Given the description of an element on the screen output the (x, y) to click on. 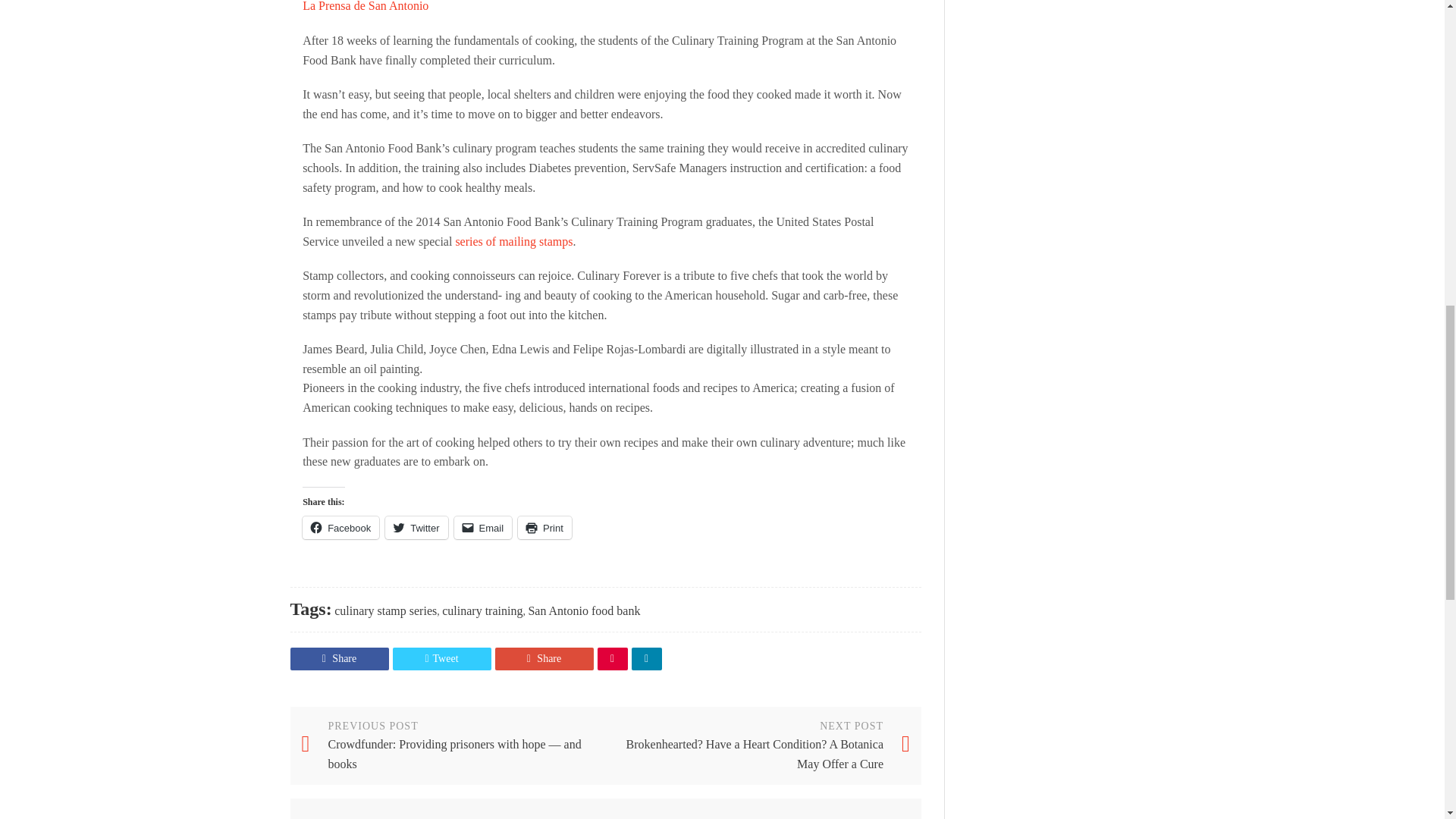
Share to twitter (694, 48)
Click to print (545, 527)
Click to email a link to a friend (483, 527)
Click to share on Twitter (415, 527)
Share to facebook (668, 48)
Click to share on Facebook (340, 527)
